Given the description of an element on the screen output the (x, y) to click on. 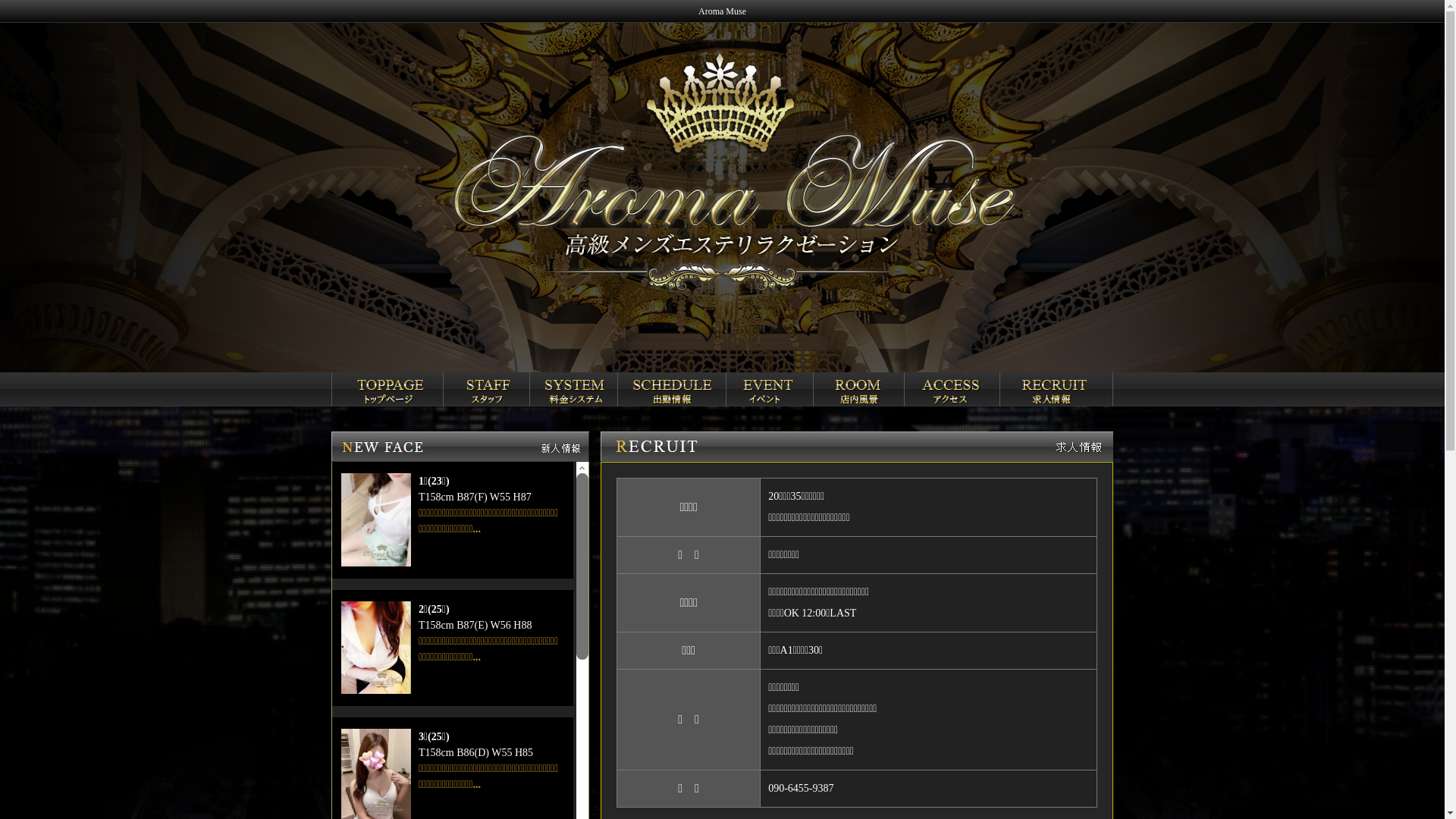
090-6455-9387 Element type: text (800, 787)
